Given the description of an element on the screen output the (x, y) to click on. 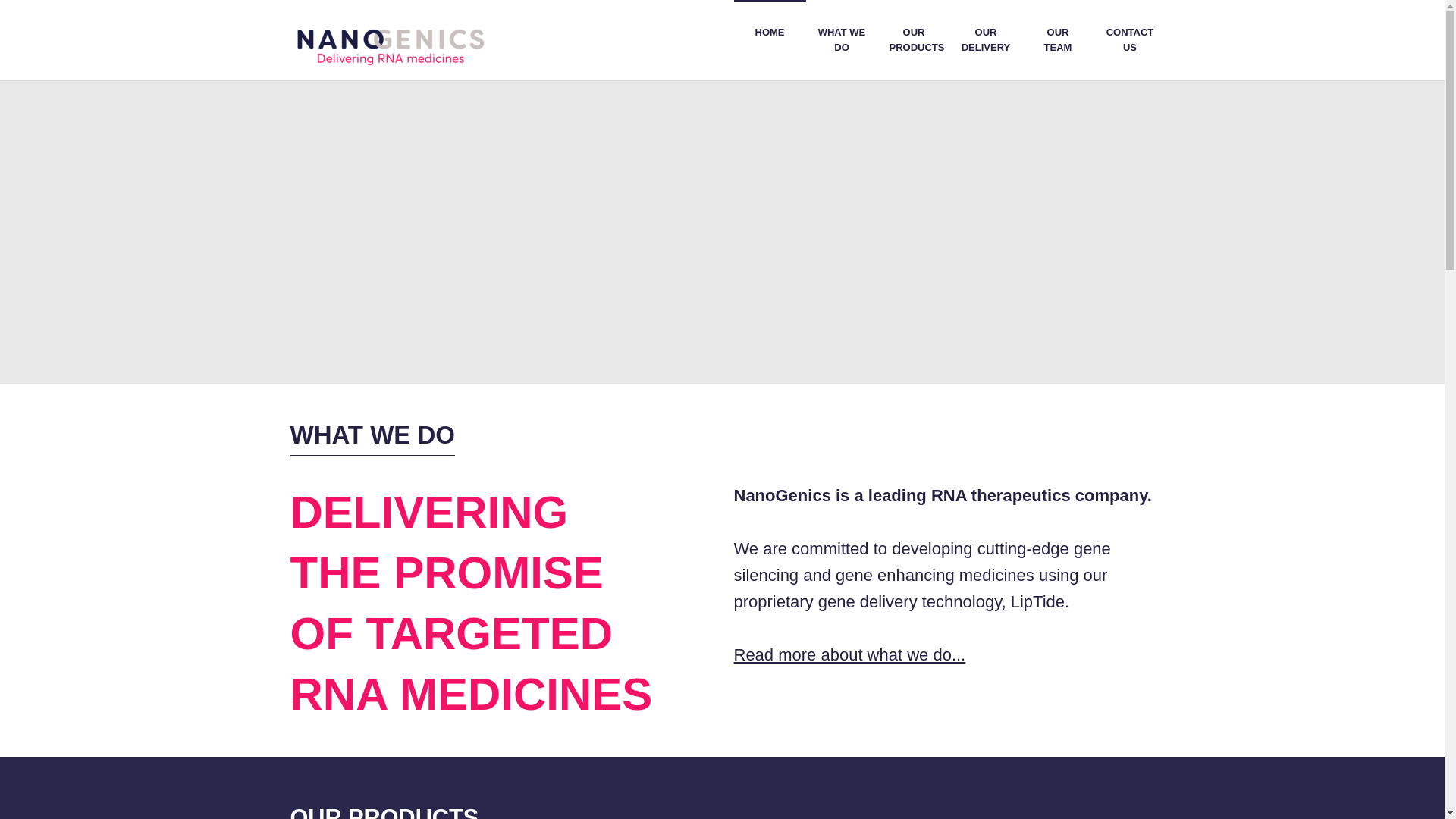
CONTACT US (1129, 40)
Read more about what we do... (849, 654)
OUR TEAM (1058, 40)
Nanogenics (390, 33)
HOME (769, 32)
OUR PRODUCTS (913, 40)
WHAT WE DO (841, 40)
OUR DELIVERY (985, 40)
